Given the description of an element on the screen output the (x, y) to click on. 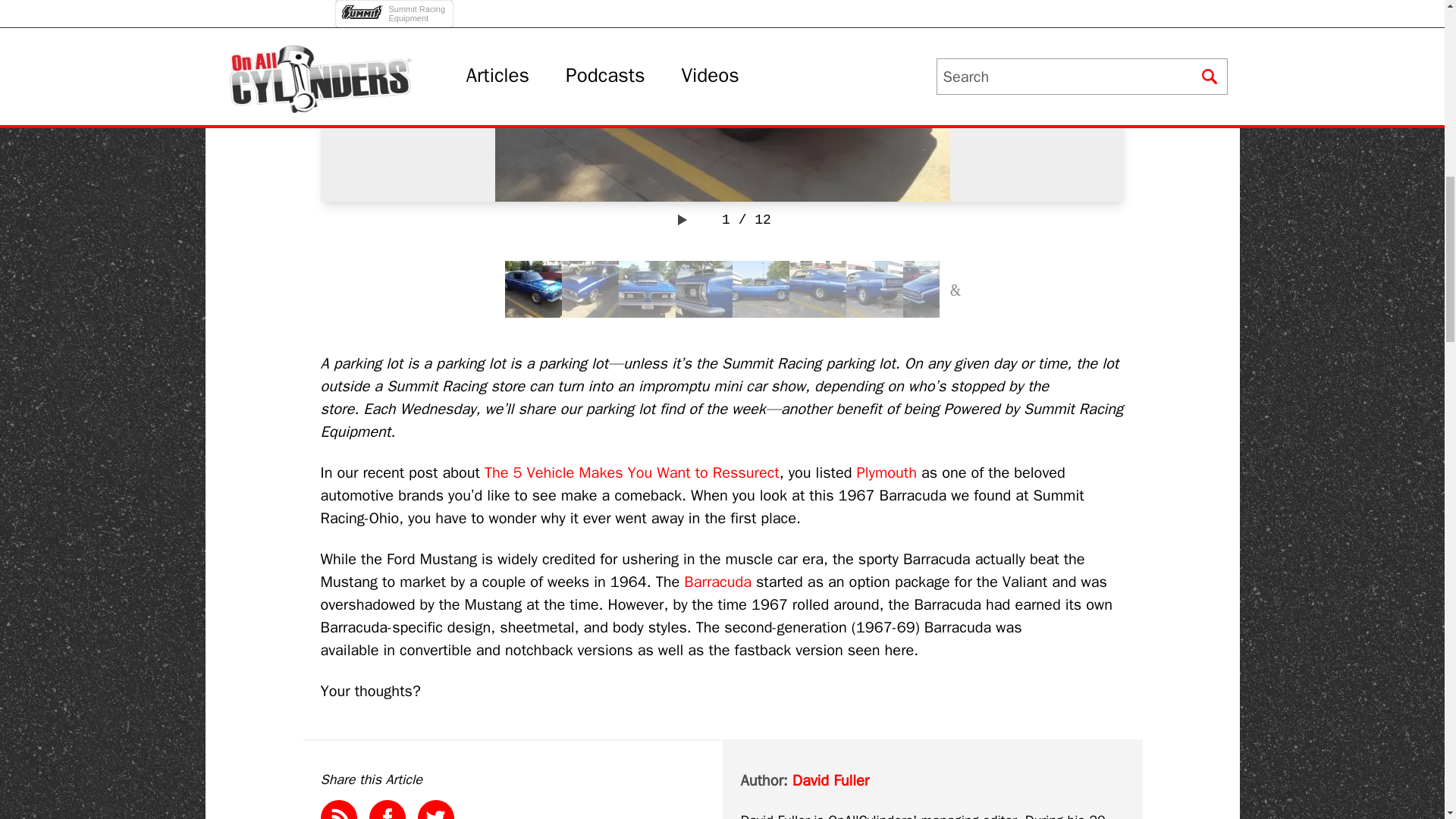
Top 5 Vehicle Makes You Want to Ressurect (631, 472)
Plymouth (887, 472)
Barracuda (717, 581)
